Given the description of an element on the screen output the (x, y) to click on. 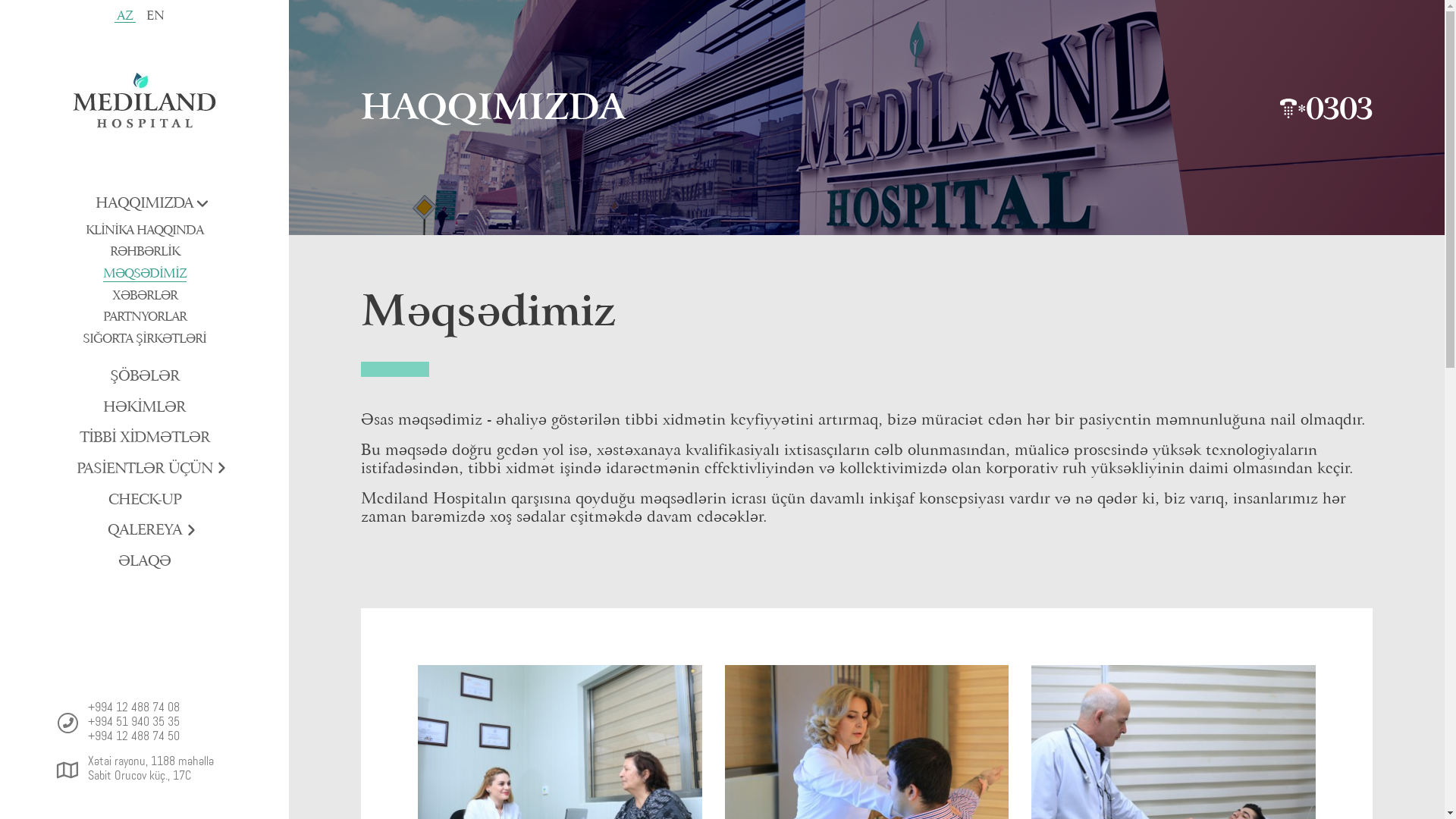
HAQQIMIZDA Element type: text (144, 203)
AZ Element type: text (124, 14)
QALEREYA Element type: text (144, 530)
EN Element type: text (155, 15)
KLINIKA HAQQINDA Element type: text (144, 230)
PARTNYORLAR Element type: text (144, 316)
CHECK-UP Element type: text (143, 499)
